Given the description of an element on the screen output the (x, y) to click on. 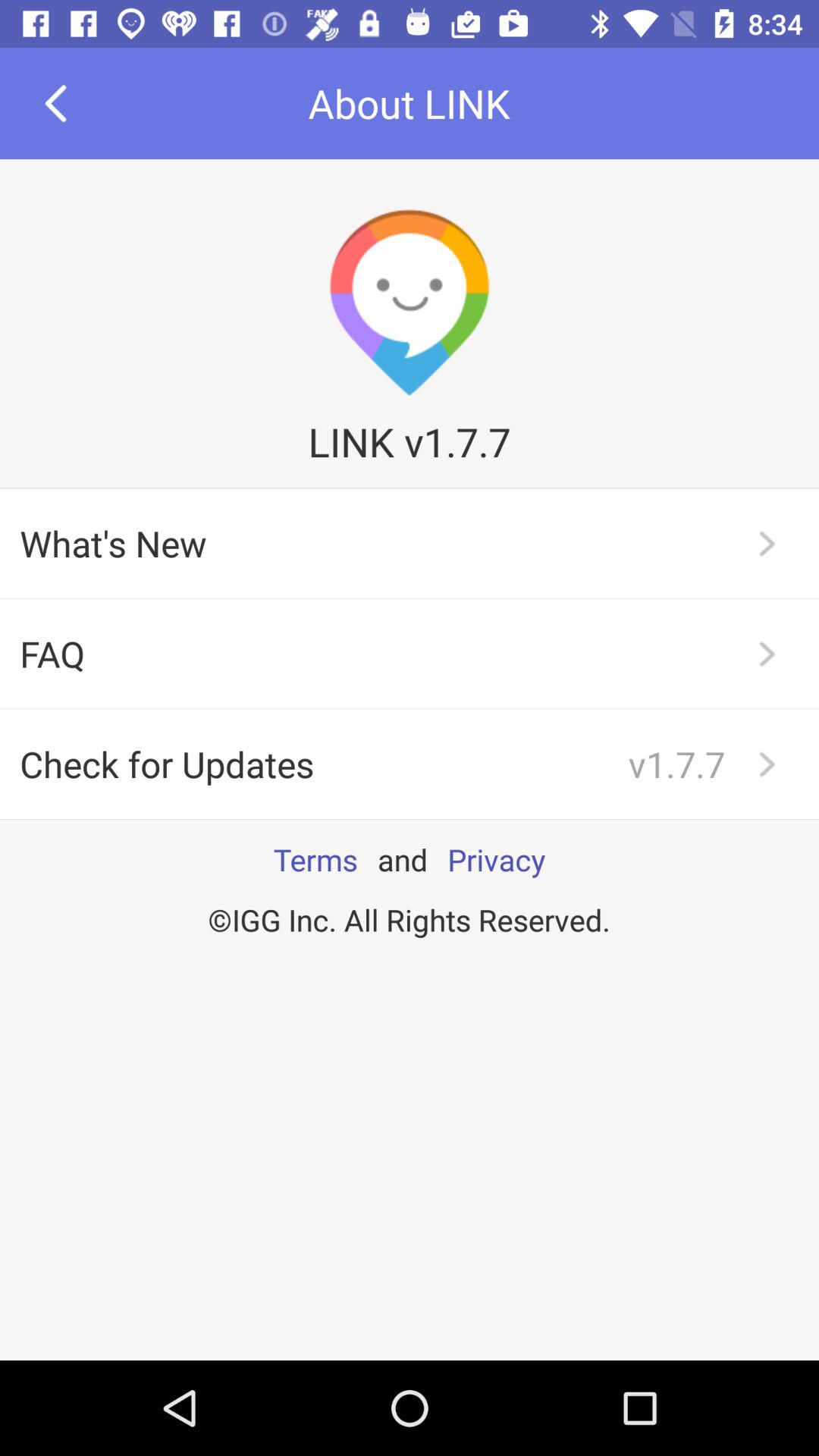
launch the what's new app (409, 543)
